Given the description of an element on the screen output the (x, y) to click on. 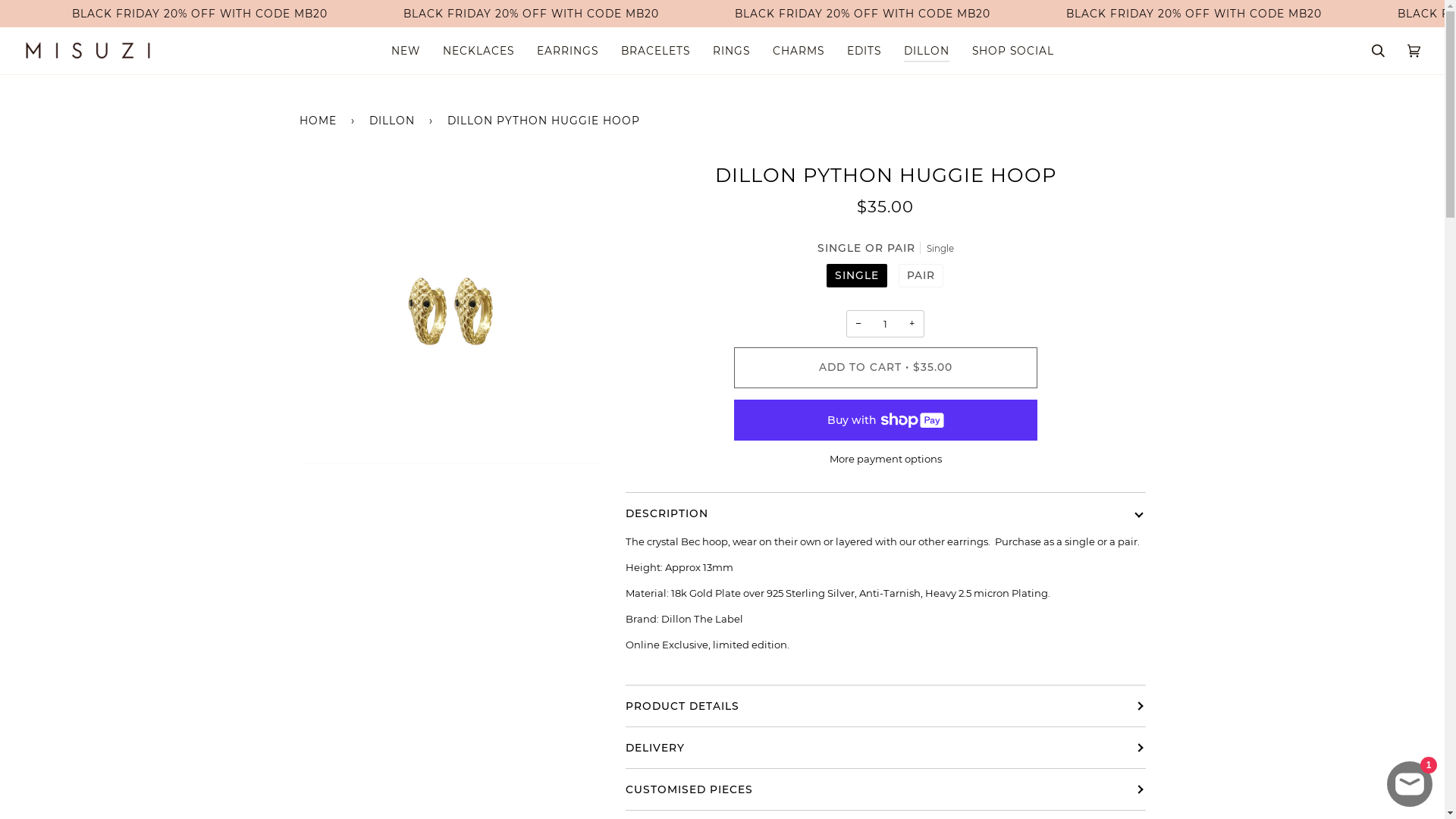
CHARMS Element type: text (798, 50)
HOME Element type: text (319, 119)
SHOP SOCIAL Element type: text (1012, 50)
DESCRIPTION Element type: text (885, 512)
DILLON Element type: text (925, 50)
PRODUCT DETAILS Element type: text (885, 705)
More payment options Element type: text (885, 458)
DILLON Element type: text (393, 119)
+ Element type: text (912, 324)
DELIVERY Element type: text (885, 747)
CUSTOMISED PIECES Element type: text (885, 788)
EDITS Element type: text (863, 50)
Search Element type: text (1378, 50)
RINGS Element type: text (730, 50)
Shopify online store chat Element type: hover (1409, 780)
Cart
(0) Element type: text (1413, 50)
EARRINGS Element type: text (566, 50)
NECKLACES Element type: text (477, 50)
BRACELETS Element type: text (655, 50)
NEW Element type: text (404, 50)
